Given the description of an element on the screen output the (x, y) to click on. 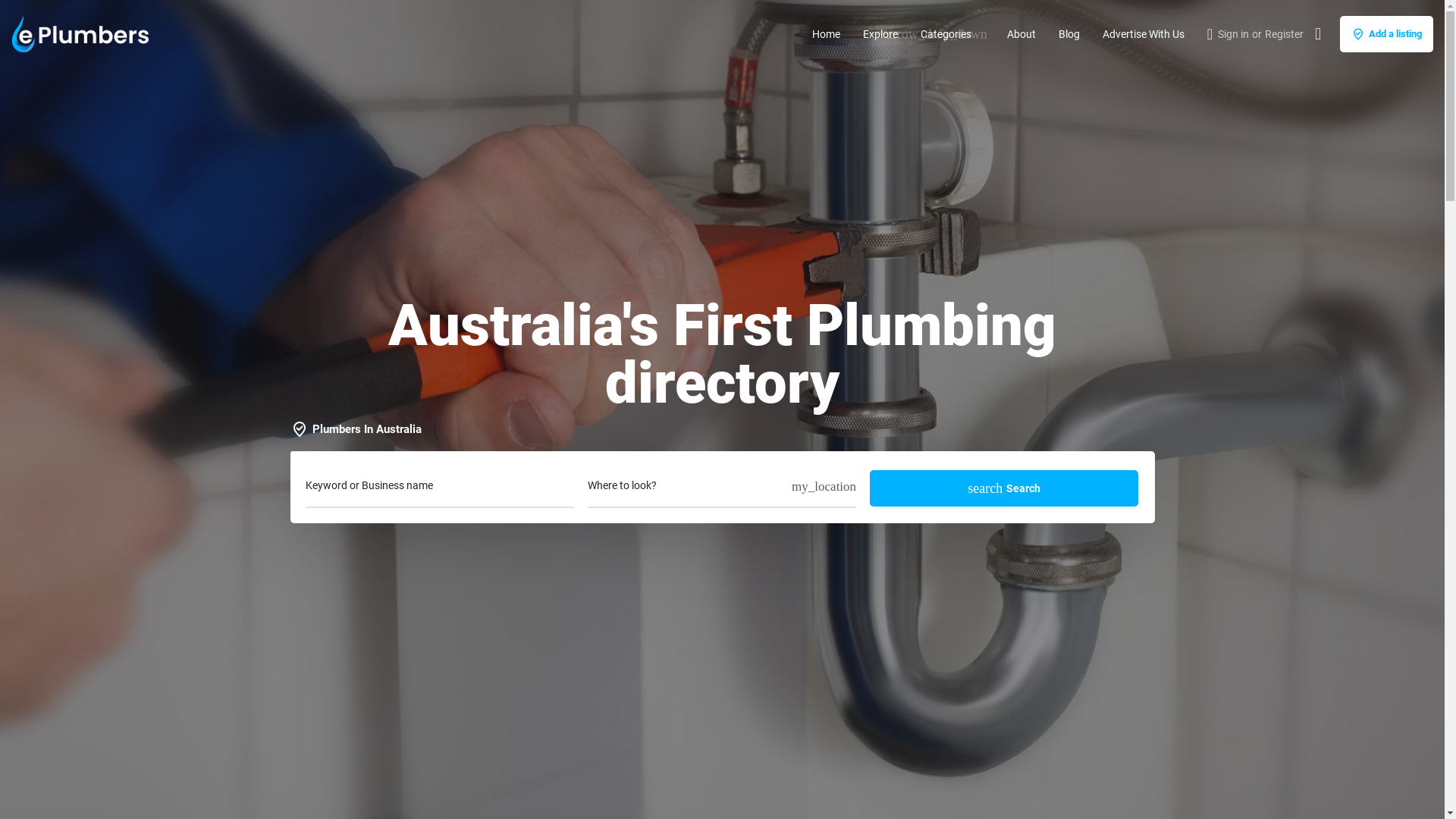
Home Element type: text (826, 32)
Register Element type: text (1283, 33)
View your shopping cart Element type: hover (1317, 33)
Add a listing Element type: text (1386, 33)
search
Search Element type: text (1003, 488)
Explore Element type: text (879, 32)
Blog Element type: text (1068, 32)
About Element type: text (1021, 32)
Sign in Element type: text (1232, 33)
Categories Element type: text (945, 32)
Plumbers In Australia Element type: text (358, 429)
Advertise With Us Element type: text (1143, 32)
